Given the description of an element on the screen output the (x, y) to click on. 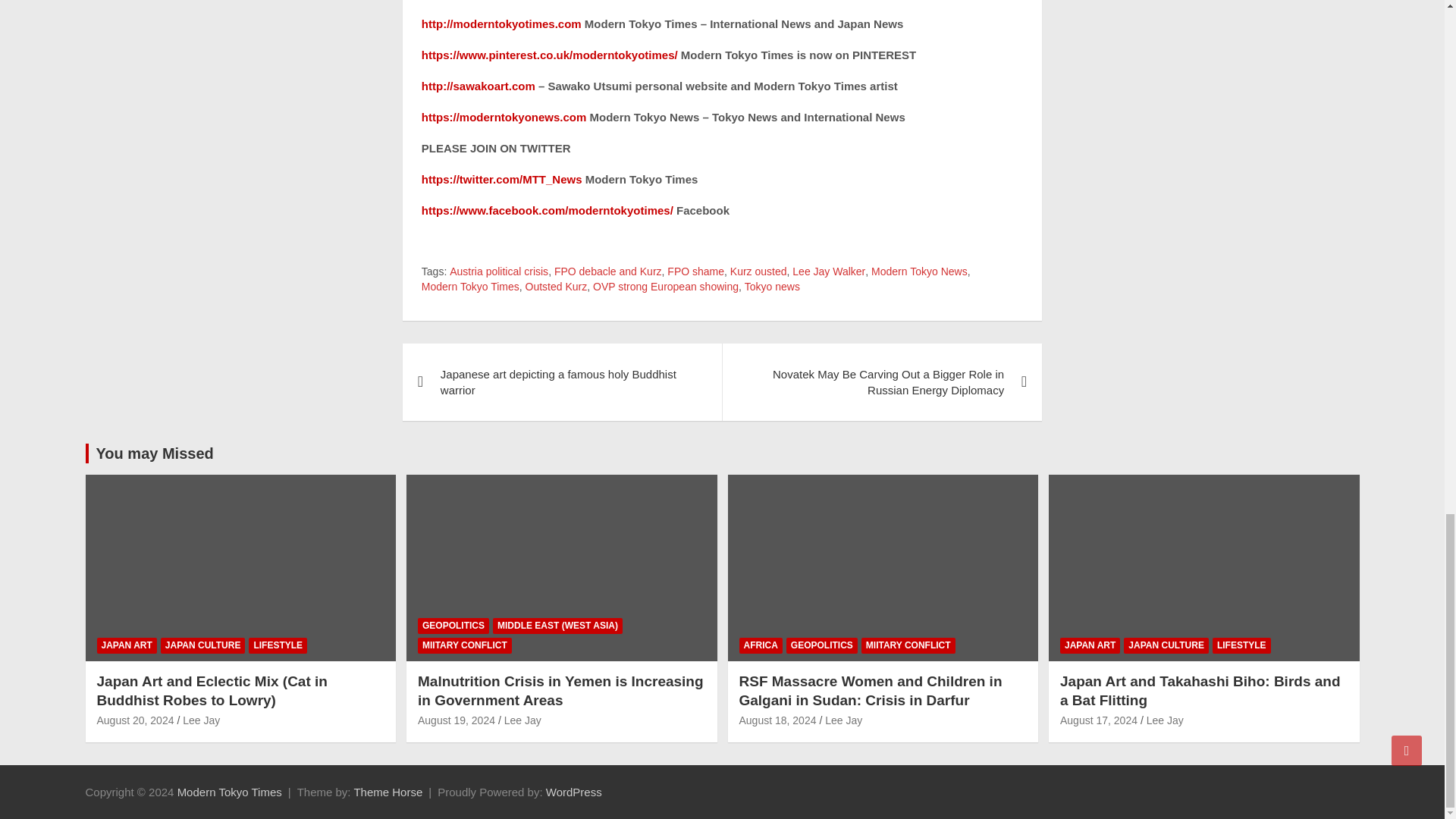
OVP strong European showing (665, 287)
JAPAN ART (127, 645)
Theme Horse (387, 791)
FPO shame (694, 272)
Japan Art and Takahashi Biho: Birds and a Bat Flitting (1098, 720)
Outsted Kurz (556, 287)
Lee Jay Walker (828, 272)
Japanese art depicting a famous holy Buddhist warrior (562, 381)
FPO debacle and Kurz (608, 272)
